Given the description of an element on the screen output the (x, y) to click on. 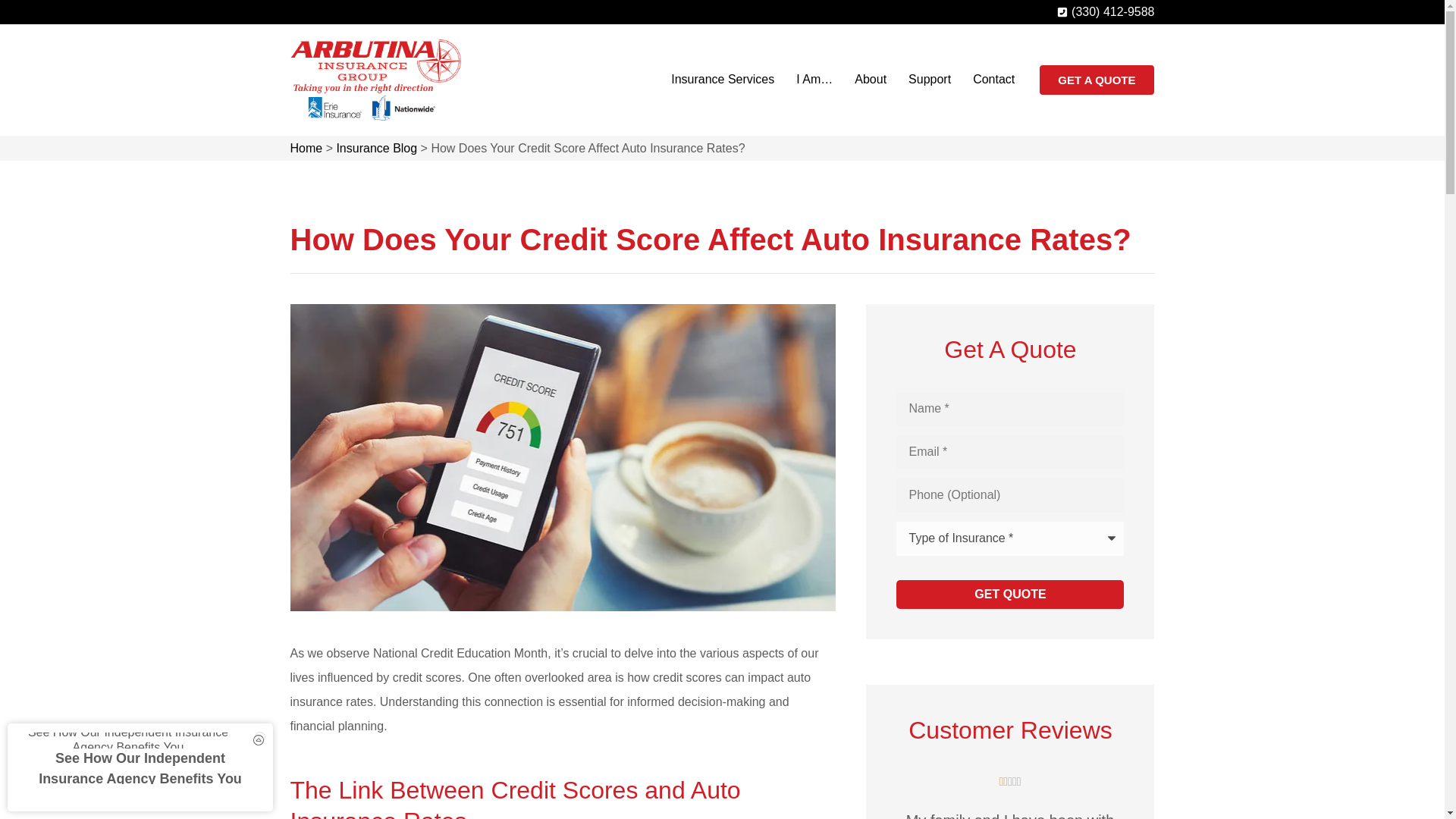
About (870, 79)
Arbutina logo (374, 79)
Support (929, 79)
Insurance Services (722, 79)
Get Quote (1010, 594)
